Given the description of an element on the screen output the (x, y) to click on. 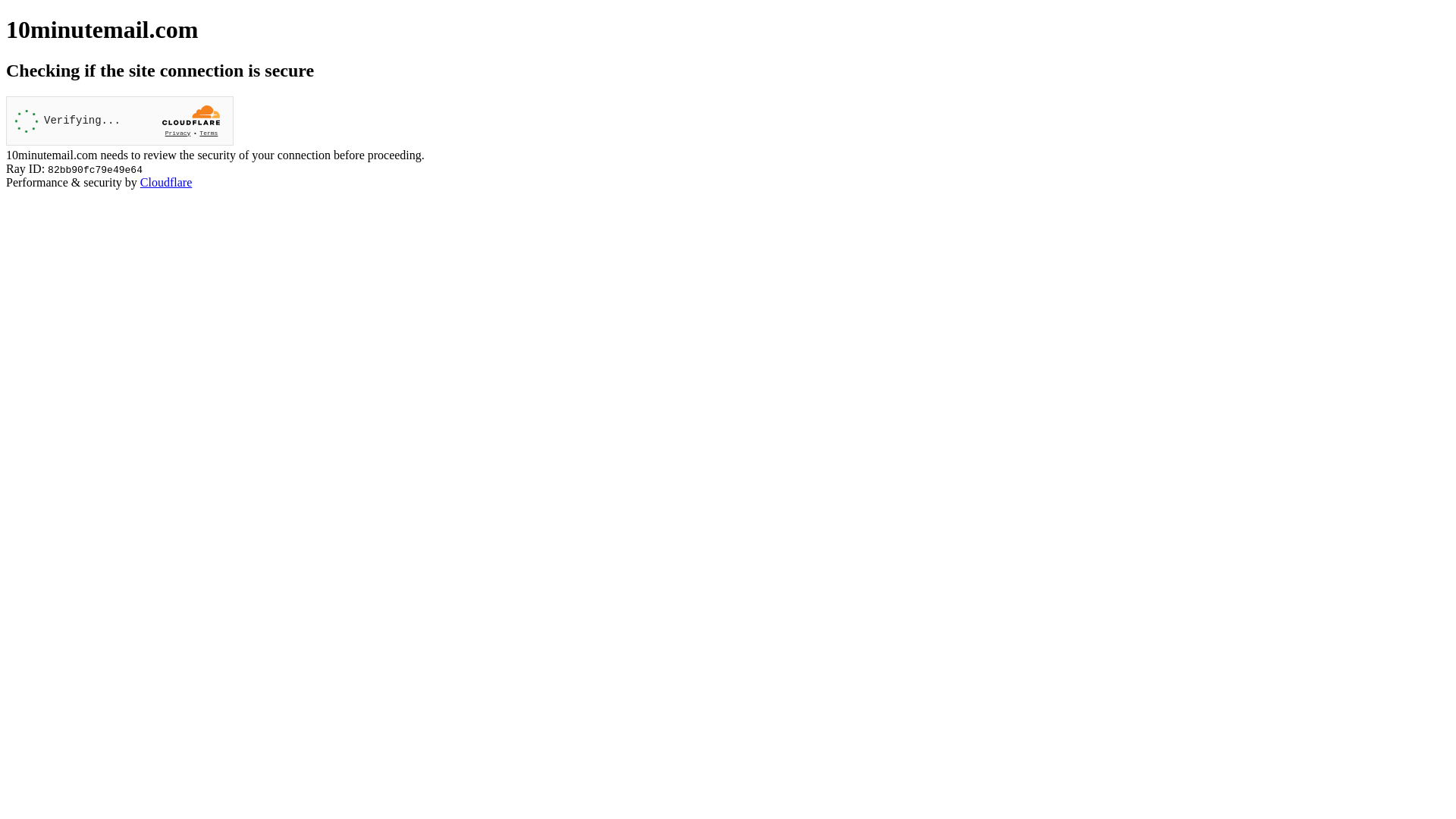
Widget containing a Cloudflare security challenge Element type: hover (119, 120)
Cloudflare Element type: text (165, 181)
